Given the description of an element on the screen output the (x, y) to click on. 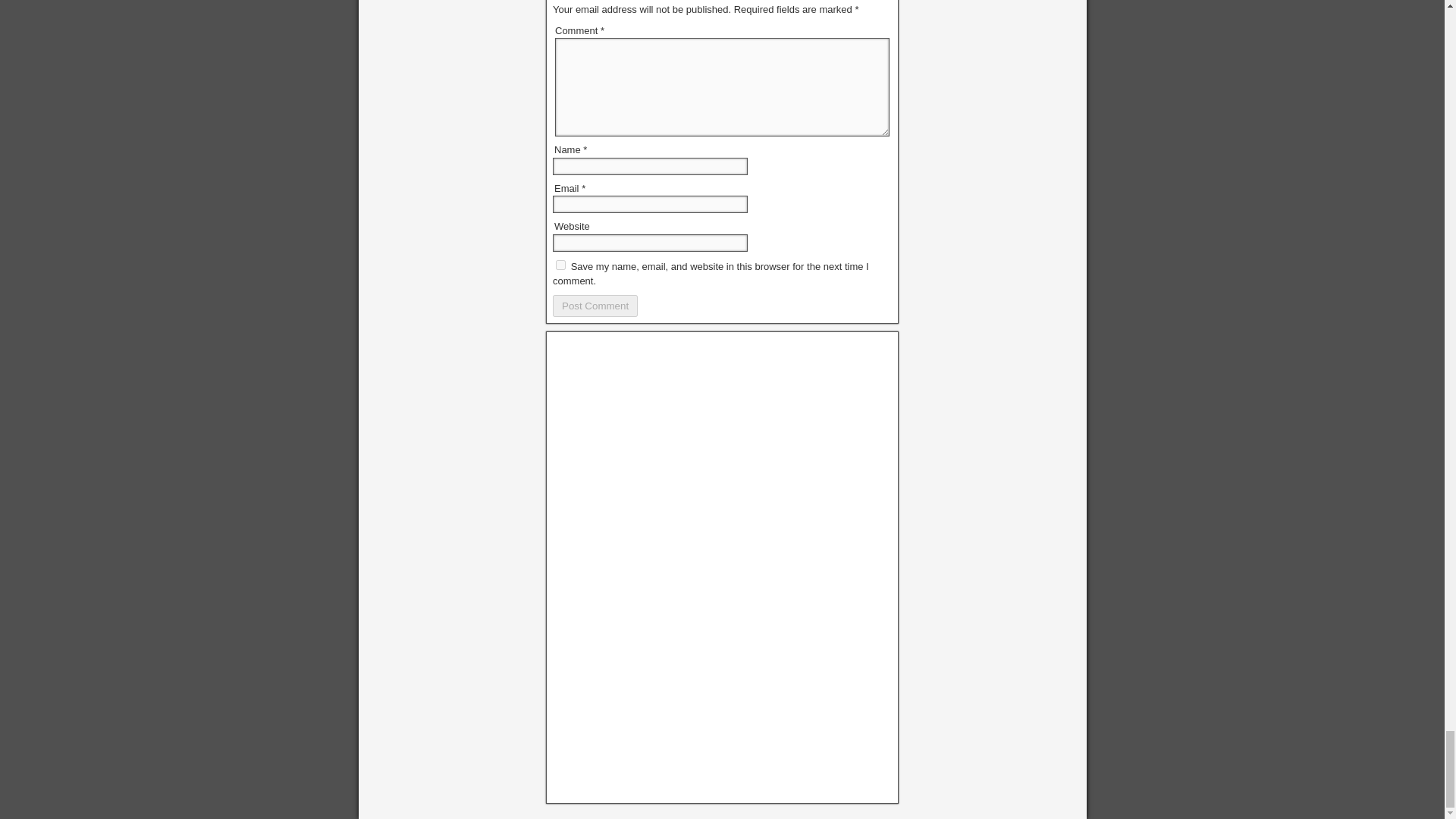
yes (561, 265)
Post Comment (595, 305)
